Given the description of an element on the screen output the (x, y) to click on. 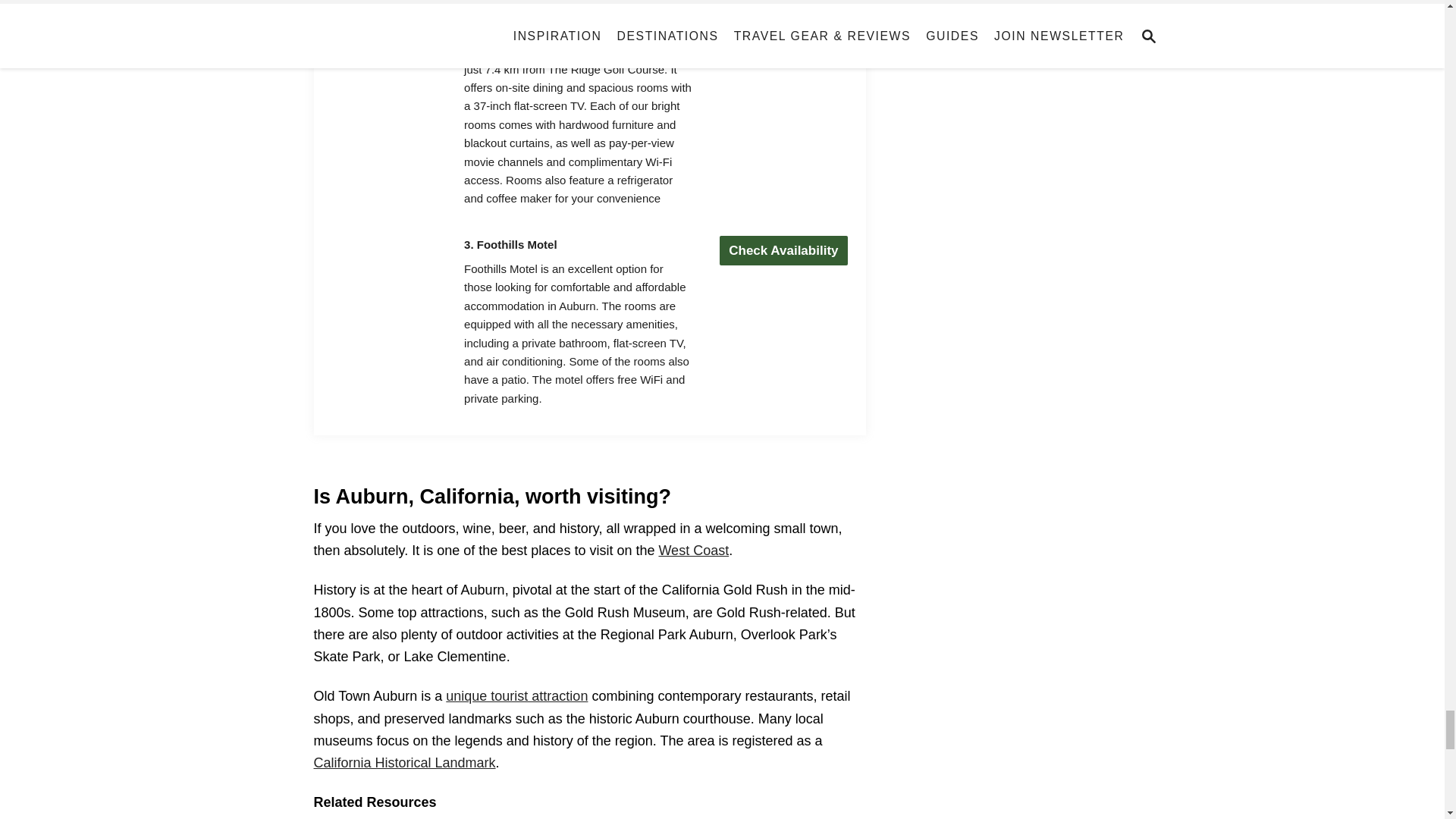
west coast (693, 549)
